Given the description of an element on the screen output the (x, y) to click on. 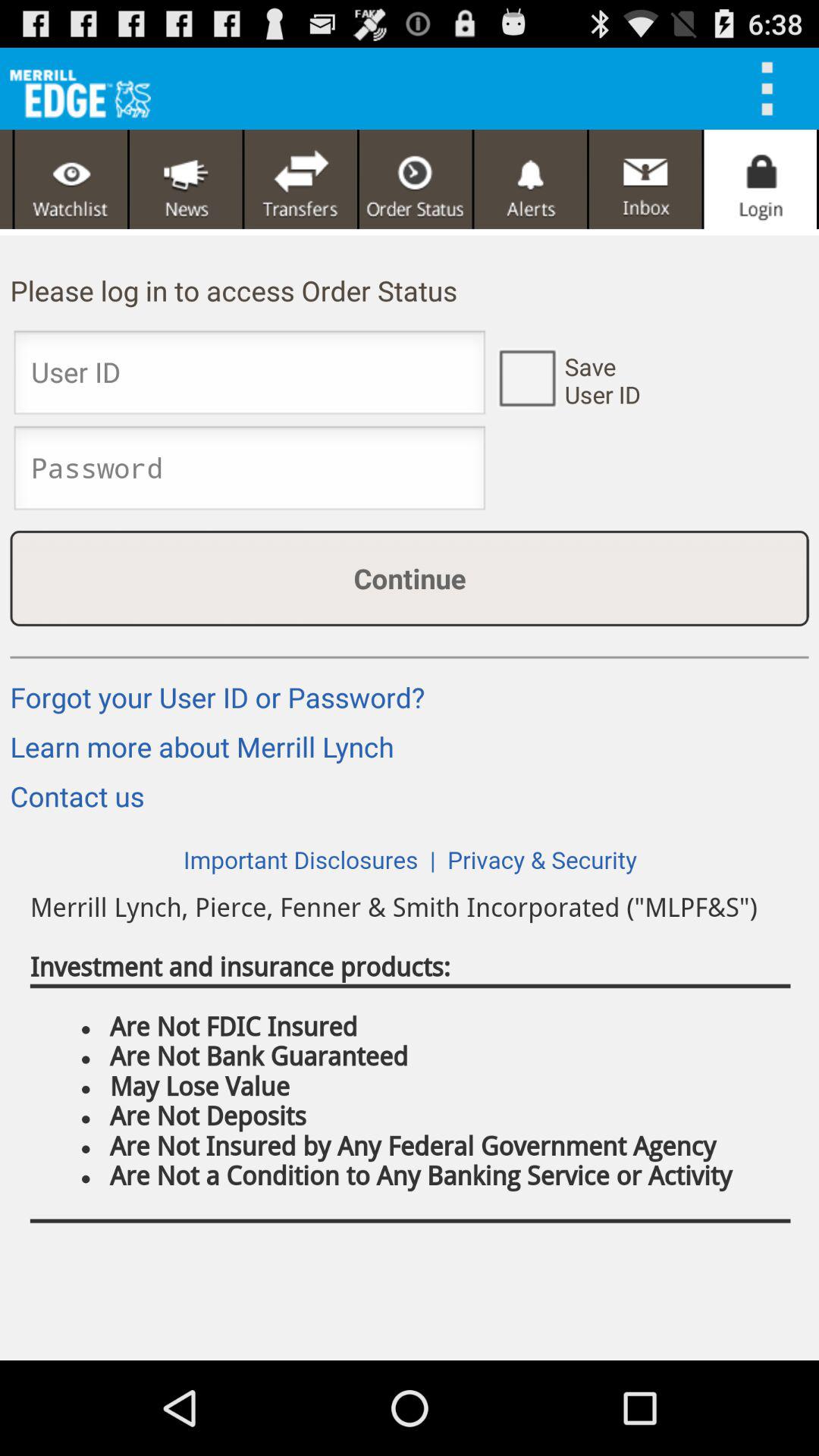
using the file (772, 88)
